Given the description of an element on the screen output the (x, y) to click on. 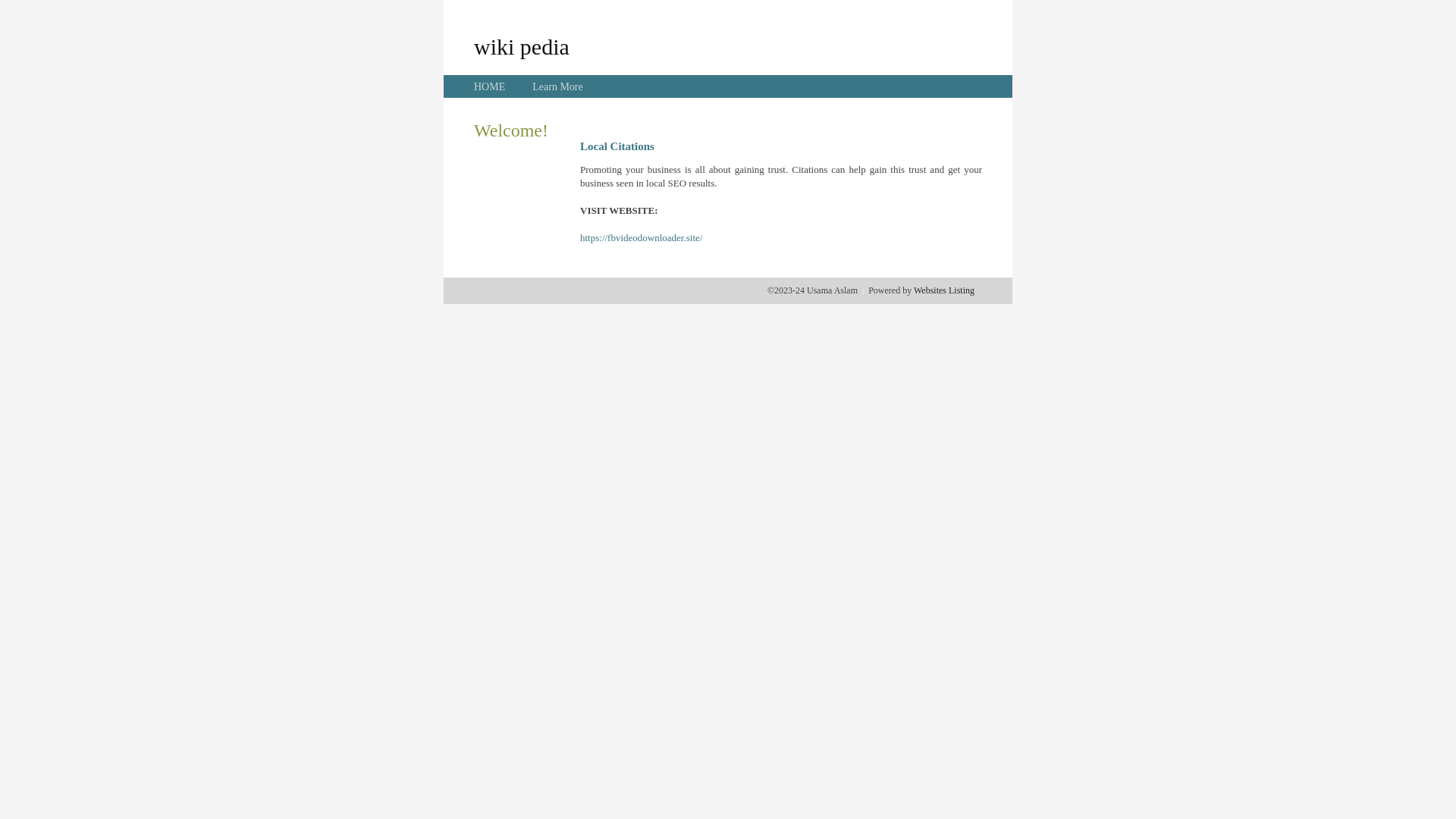
https://fbvideodownloader.site/ Element type: text (641, 237)
Websites Listing Element type: text (943, 290)
Learn More Element type: text (557, 86)
wiki pedia Element type: text (521, 46)
HOME Element type: text (489, 86)
